Given the description of an element on the screen output the (x, y) to click on. 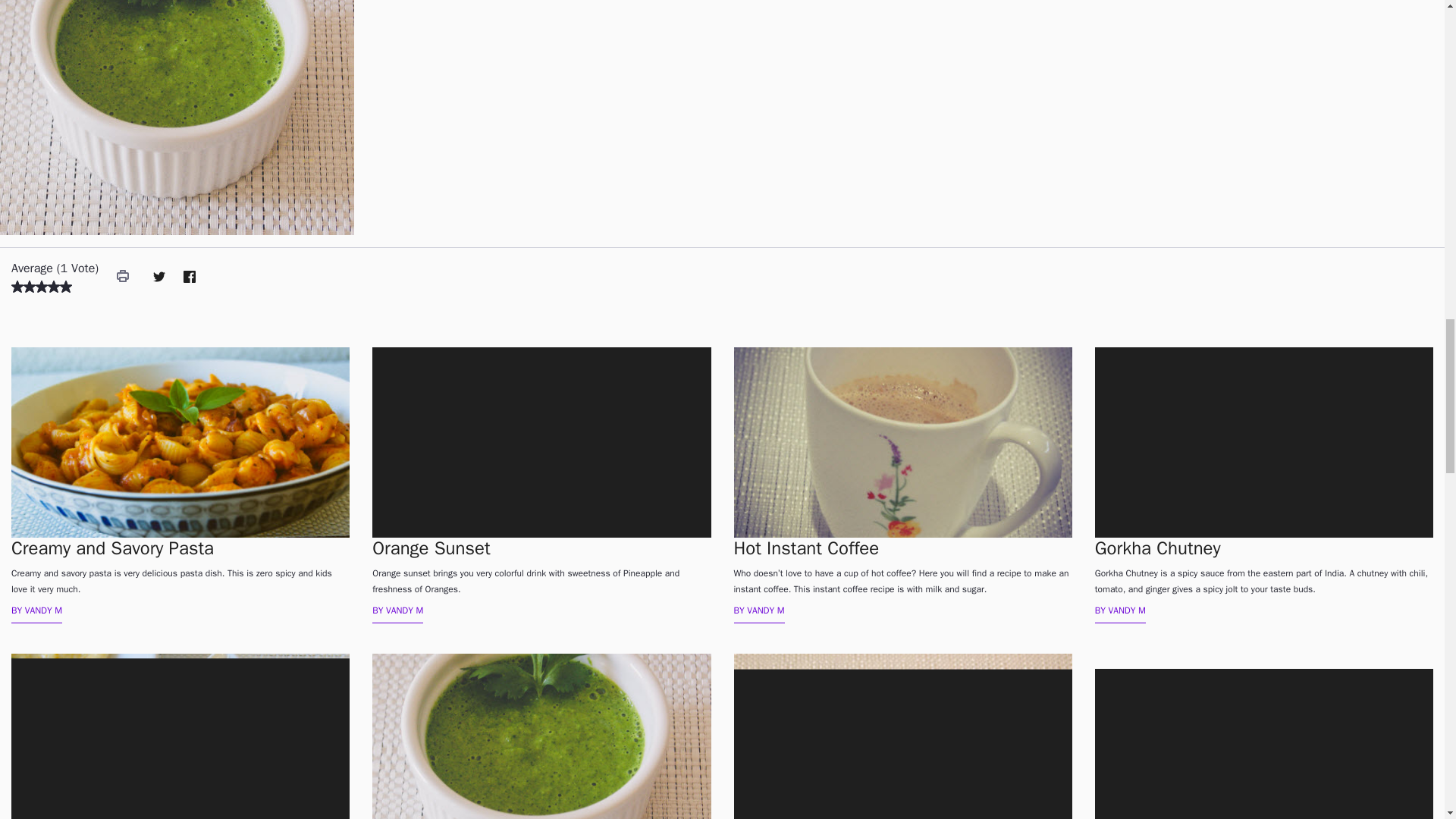
Twitter (159, 277)
The average rating is 5 stars out of 5. (17, 286)
Facebook (189, 277)
Gorkha Chutney (1157, 548)
Orange Sunset (430, 548)
Print Green Chili Chutney (122, 277)
Hot Instant Coffee (122, 277)
Creamy and Savory Pasta (806, 548)
